Given the description of an element on the screen output the (x, y) to click on. 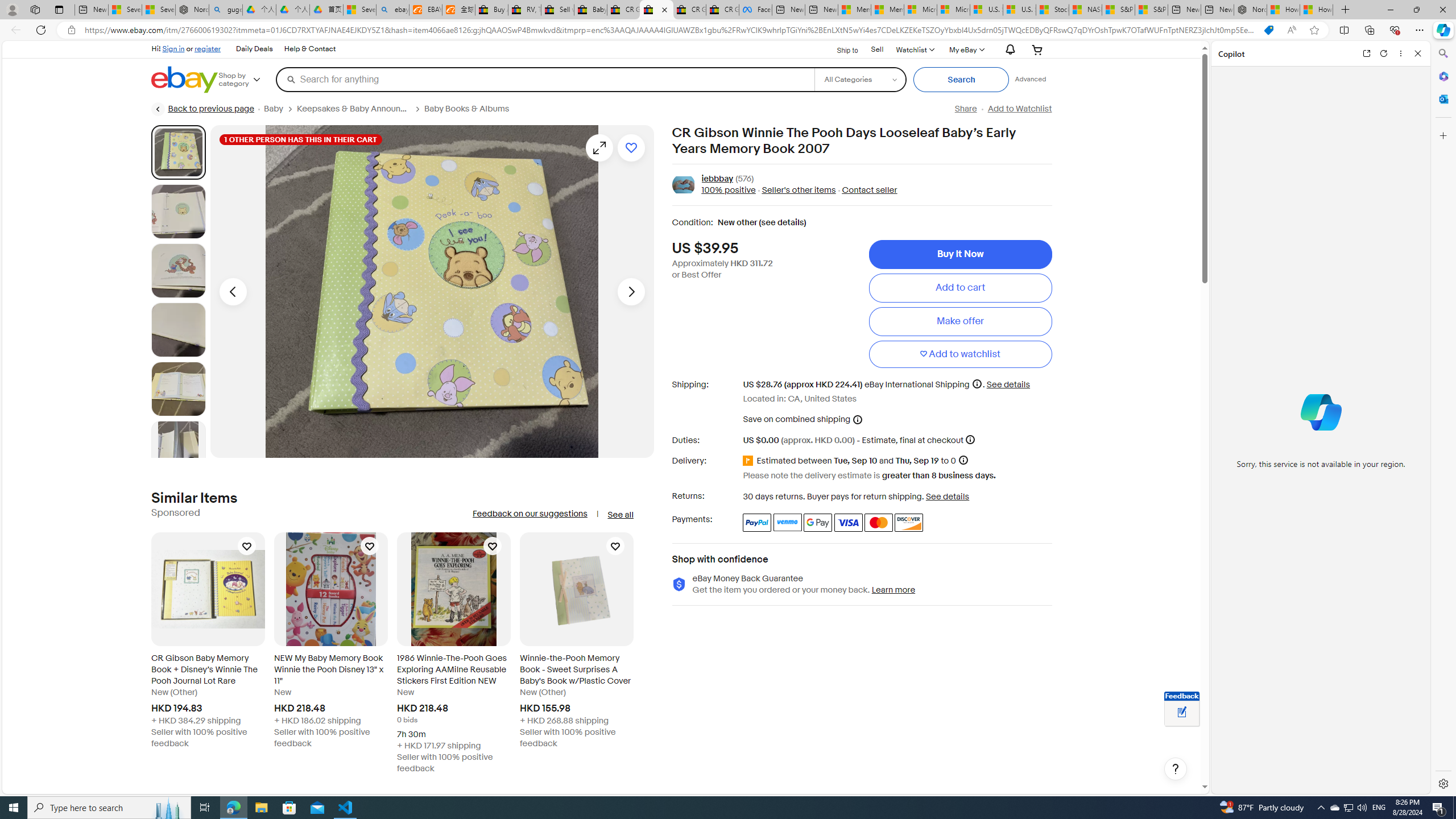
Open link in new tab (1366, 53)
Picture 1 of 22 (177, 152)
Feedback on our suggestions (529, 513)
Sell (877, 49)
100% positive (728, 190)
Leave feedback about your eBay ViewItem experience (1181, 713)
See details - for more information about returns (947, 496)
Add to watchlist (631, 147)
Master Card (877, 521)
Share (964, 108)
Shop by category (246, 79)
